Given the description of an element on the screen output the (x, y) to click on. 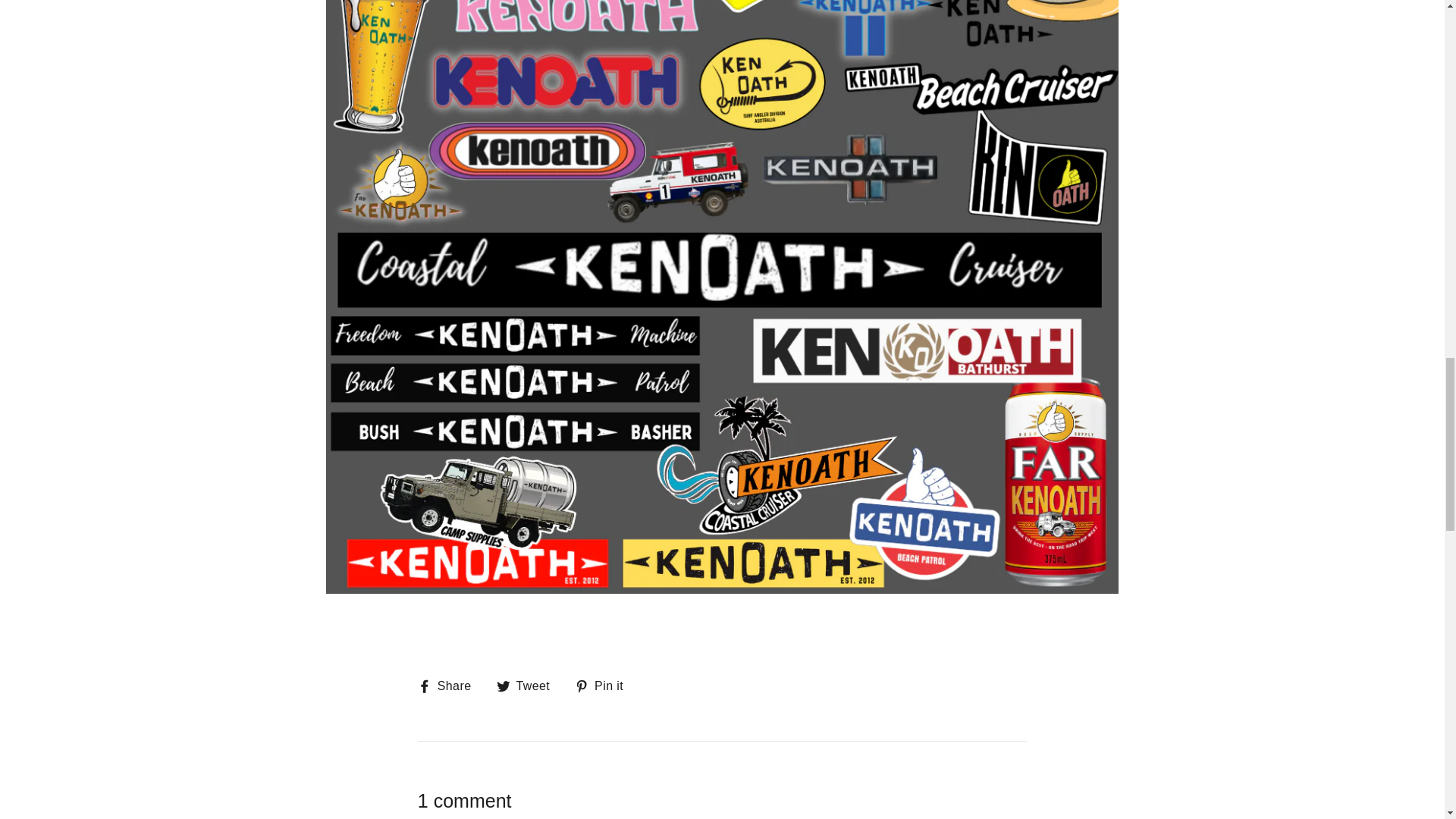
Share on Facebook (450, 685)
Pin on Pinterest (604, 685)
Tweet on Twitter (529, 685)
